Given the description of an element on the screen output the (x, y) to click on. 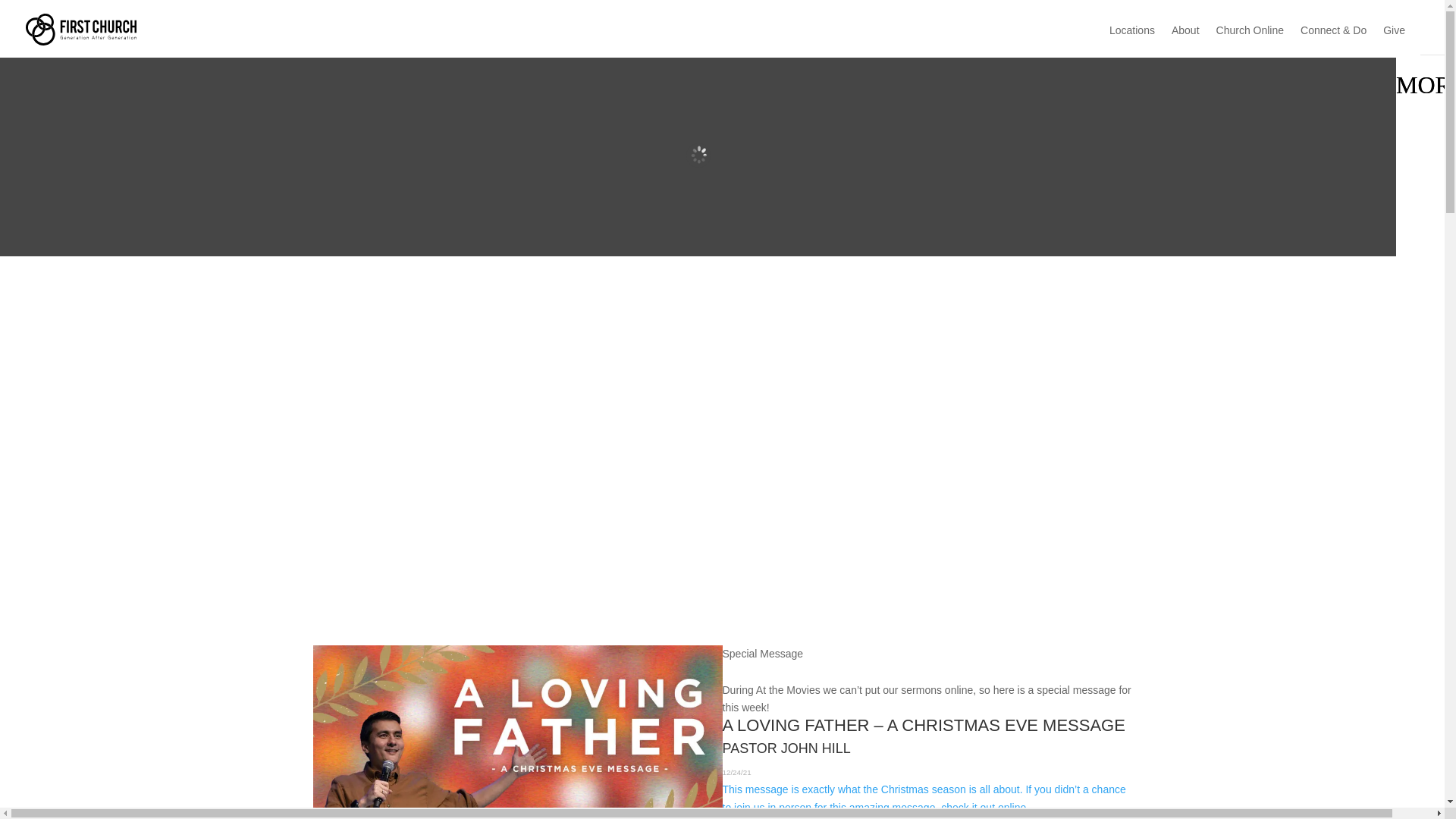
Give (1394, 41)
